Given the description of an element on the screen output the (x, y) to click on. 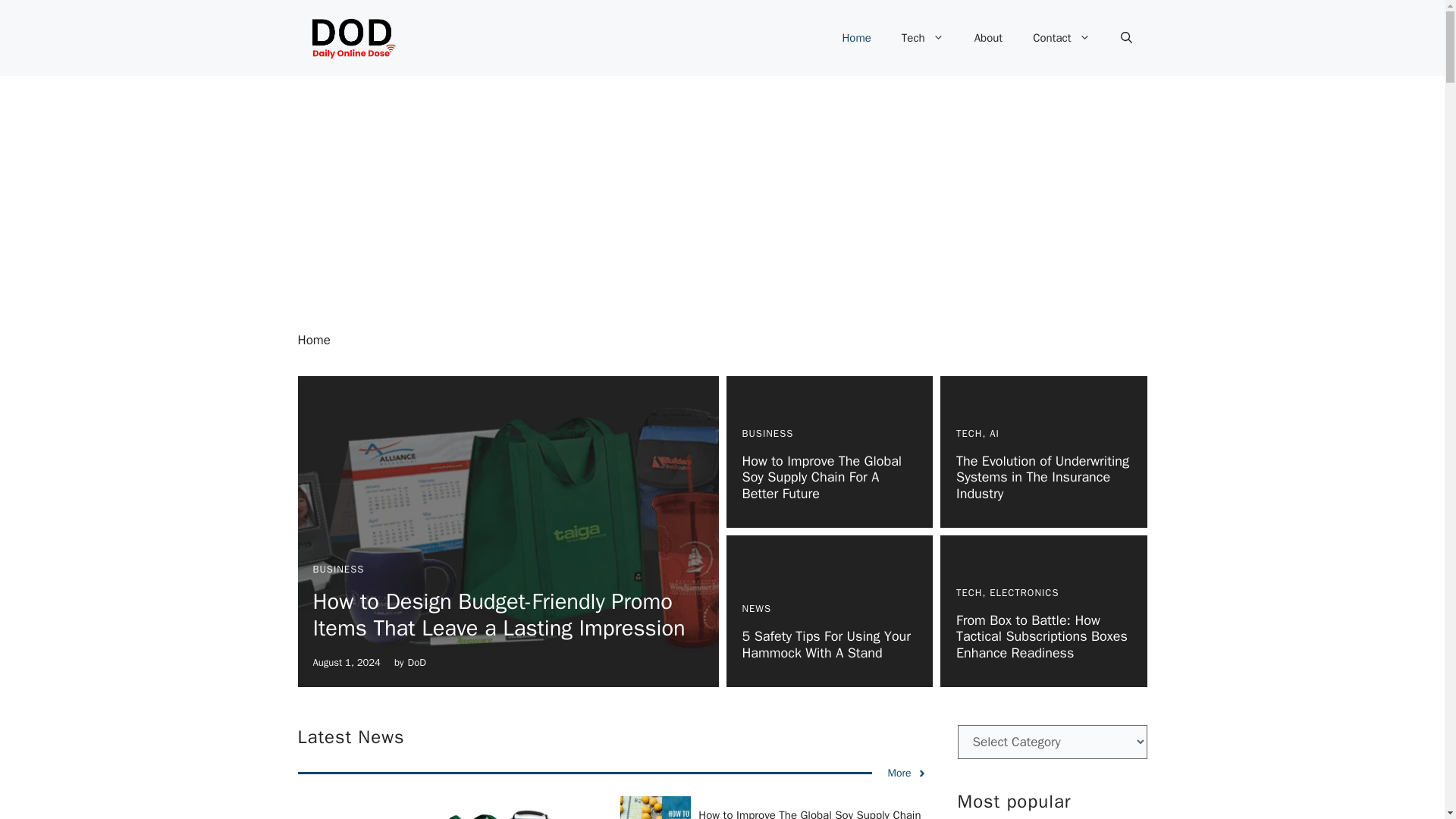
About (988, 37)
TECH (968, 592)
NEWS (756, 608)
Home (856, 37)
5 Safety Tips For Using Your Hammock With A Stand (826, 644)
More (906, 772)
